Given the description of an element on the screen output the (x, y) to click on. 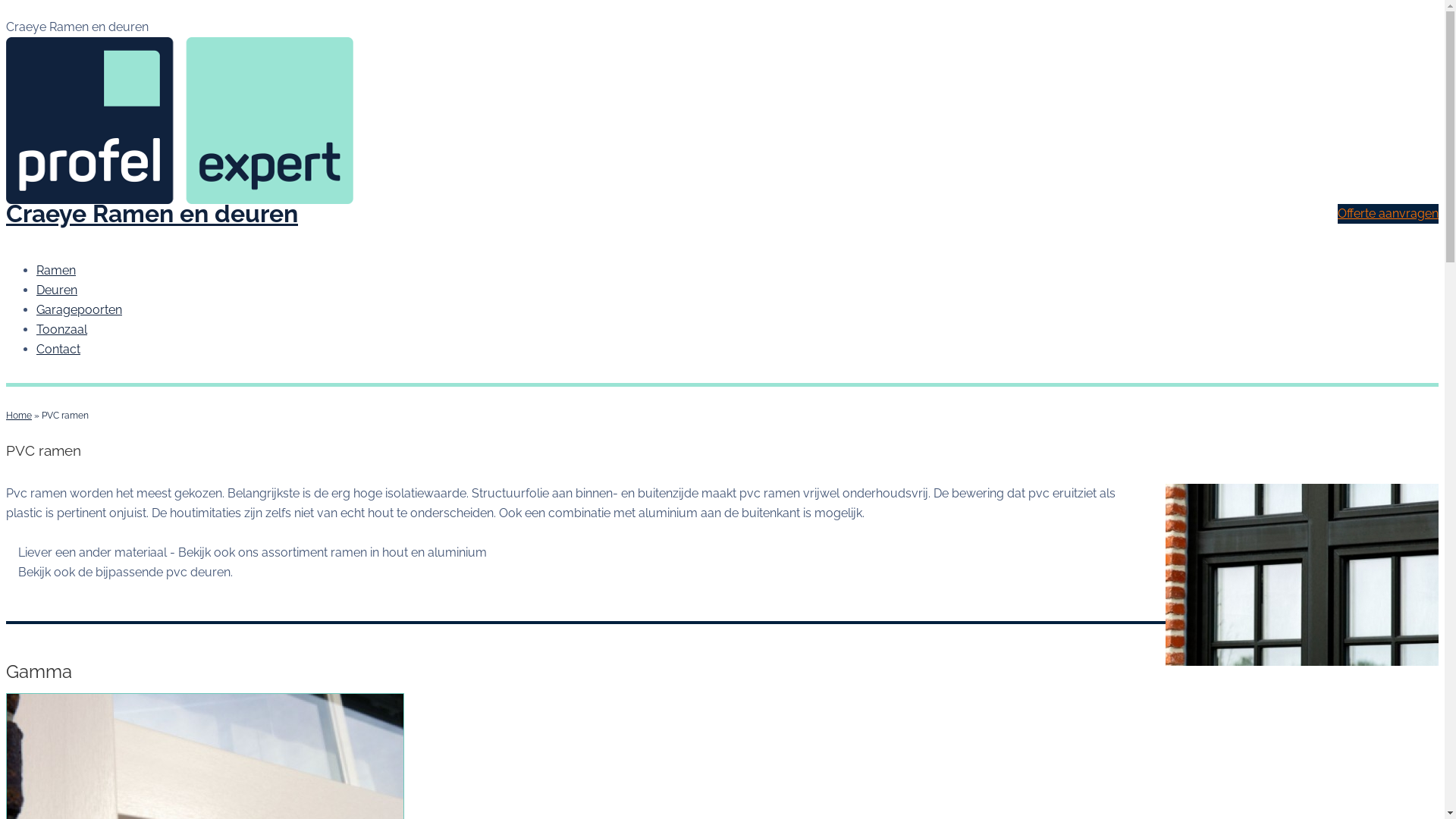
Deuren Element type: text (56, 289)
Craeye Ramen en deuren Element type: hover (722, 120)
Craeye Ramen en deuren Element type: text (152, 213)
Toonzaal Element type: text (61, 329)
Ramen Element type: text (55, 270)
Garagepoorten Element type: text (79, 309)
Home Element type: text (18, 415)
Contact Element type: text (58, 349)
Offerte aanvragen Element type: text (1387, 213)
